Given the description of an element on the screen output the (x, y) to click on. 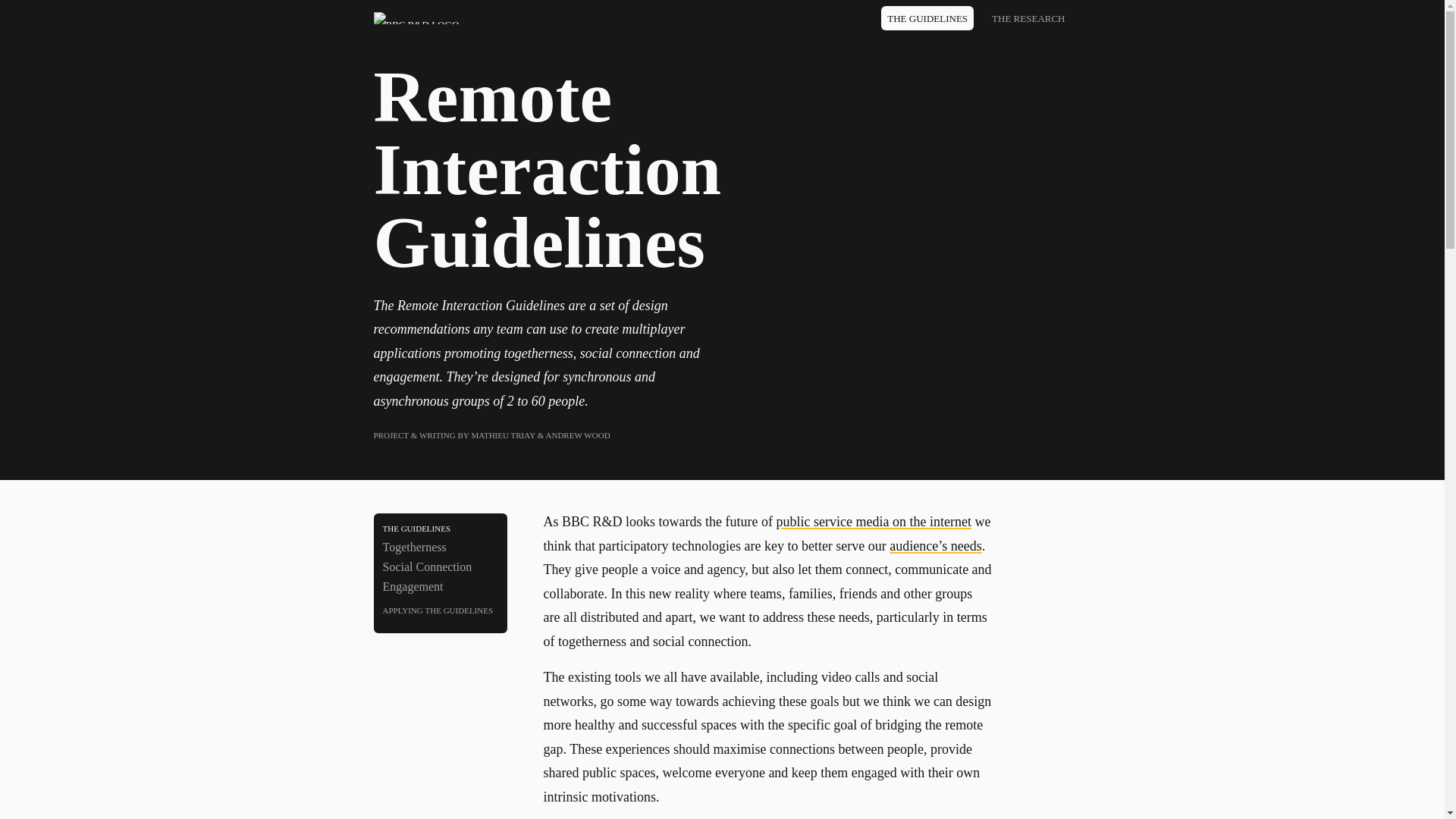
The Guidelines Element type: text (927, 18)
Engagement Element type: text (439, 586)
The Guidelines Element type: text (439, 527)
public service media on the internet Element type: text (872, 521)
Social Connection Element type: text (439, 566)
The Research Element type: text (1027, 18)
Togetherness Element type: text (439, 547)
Applying the Guidelines Element type: text (439, 609)
